Given the description of an element on the screen output the (x, y) to click on. 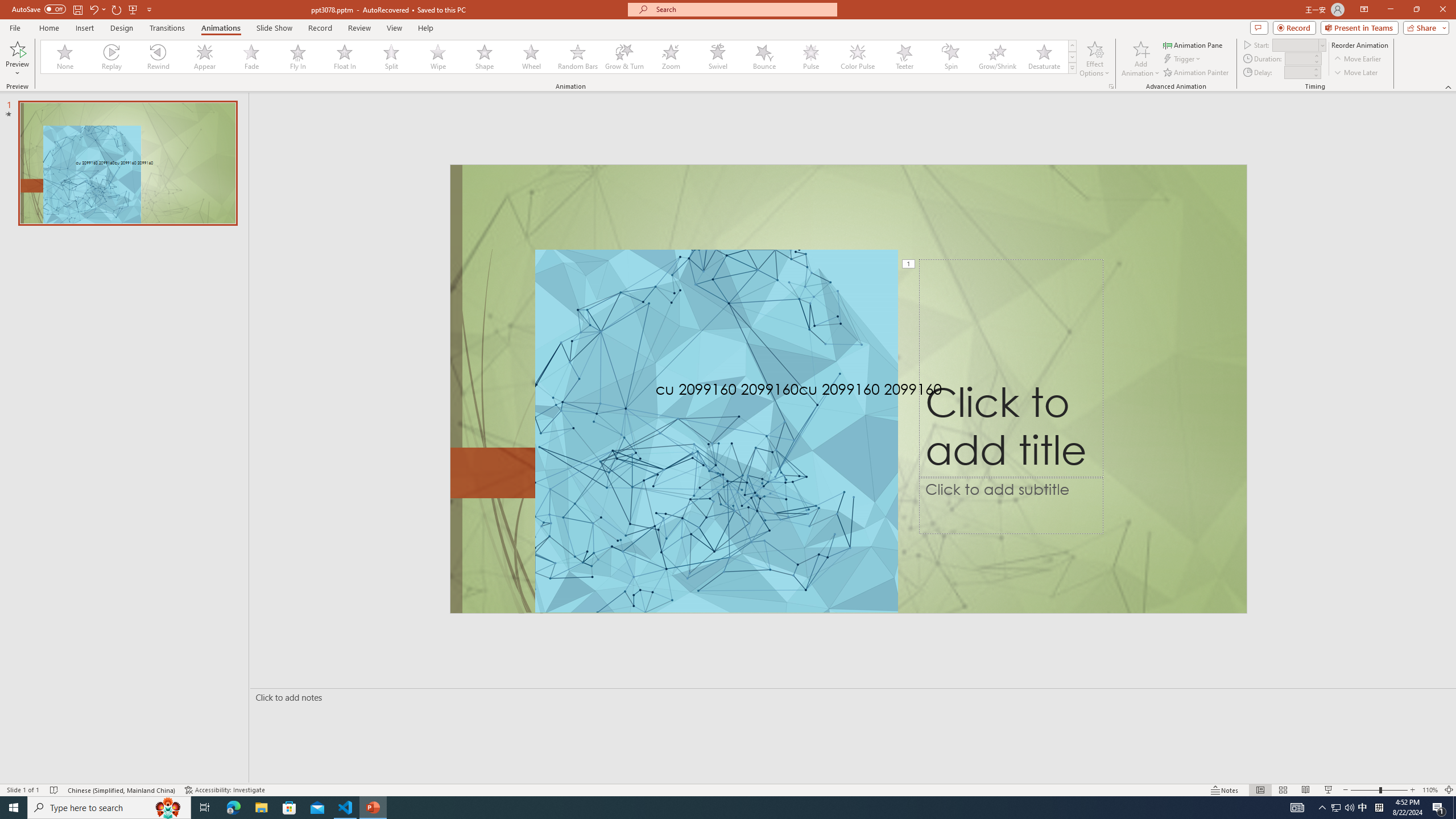
Grow & Turn (624, 56)
Bounce (764, 56)
